Given the description of an element on the screen output the (x, y) to click on. 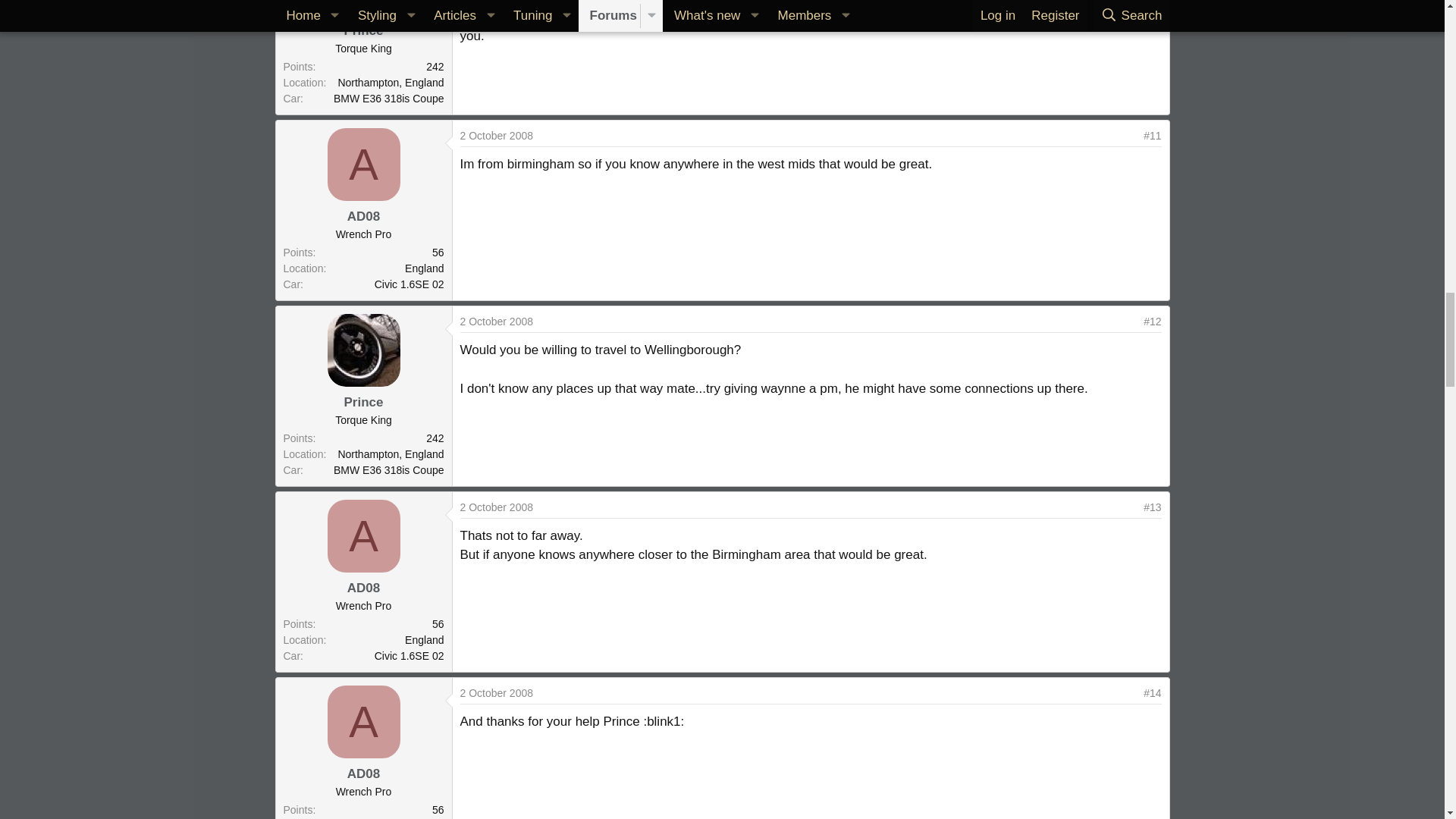
2 October 2008 at 15:57 (496, 507)
2 October 2008 at 15:58 (496, 693)
2 October 2008 at 15:50 (496, 321)
2 October 2008 at 15:49 (496, 135)
